Given the description of an element on the screen output the (x, y) to click on. 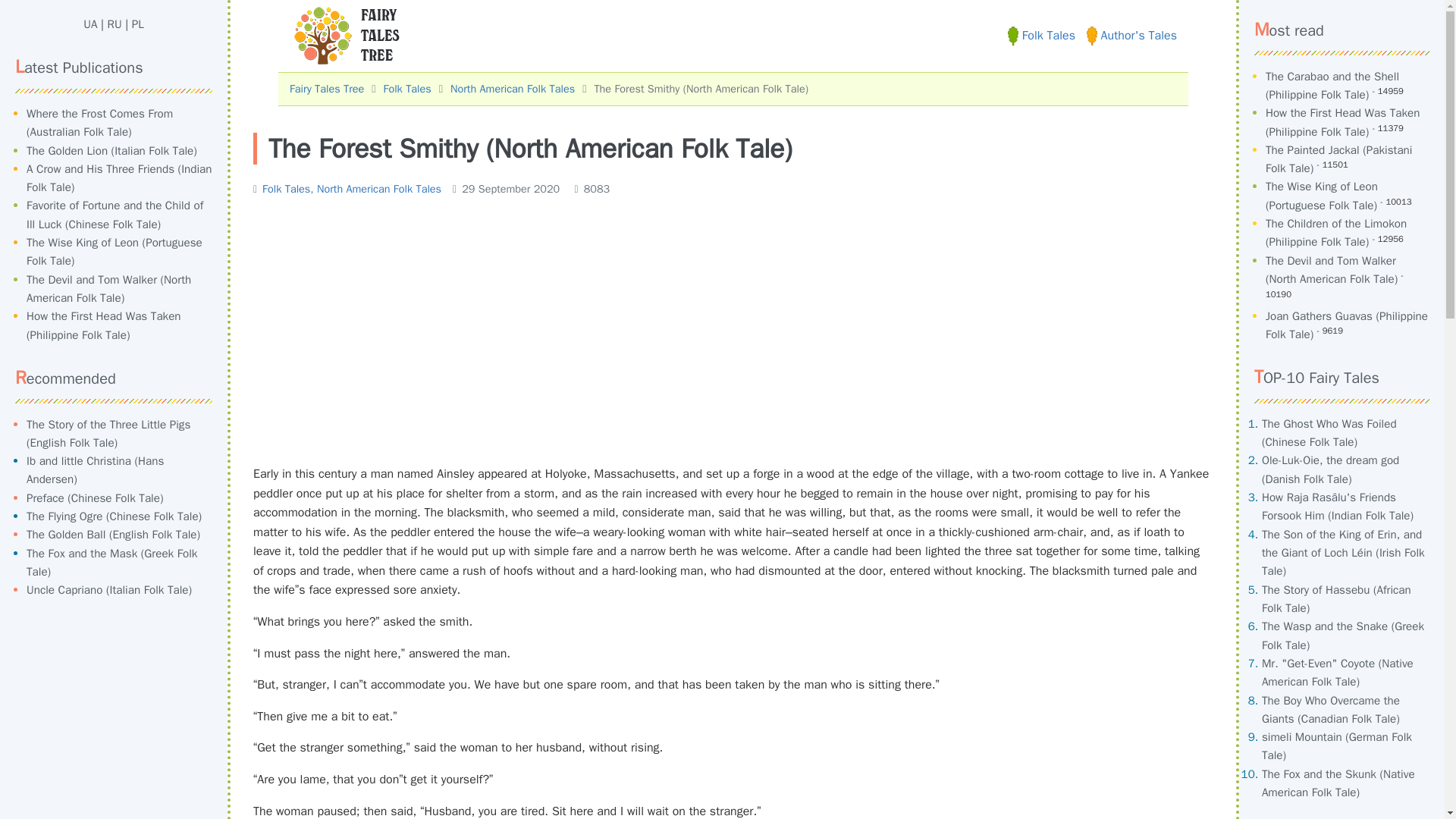
Folk Tales (286, 188)
Folk Tales (407, 88)
North American Folk Tales (512, 88)
UA (89, 23)
North American Folk Tales (379, 188)
Post category (347, 188)
Fairy Tales Tree (326, 88)
Author's Tales (1131, 35)
Folk Tales (1041, 35)
